Given the description of an element on the screen output the (x, y) to click on. 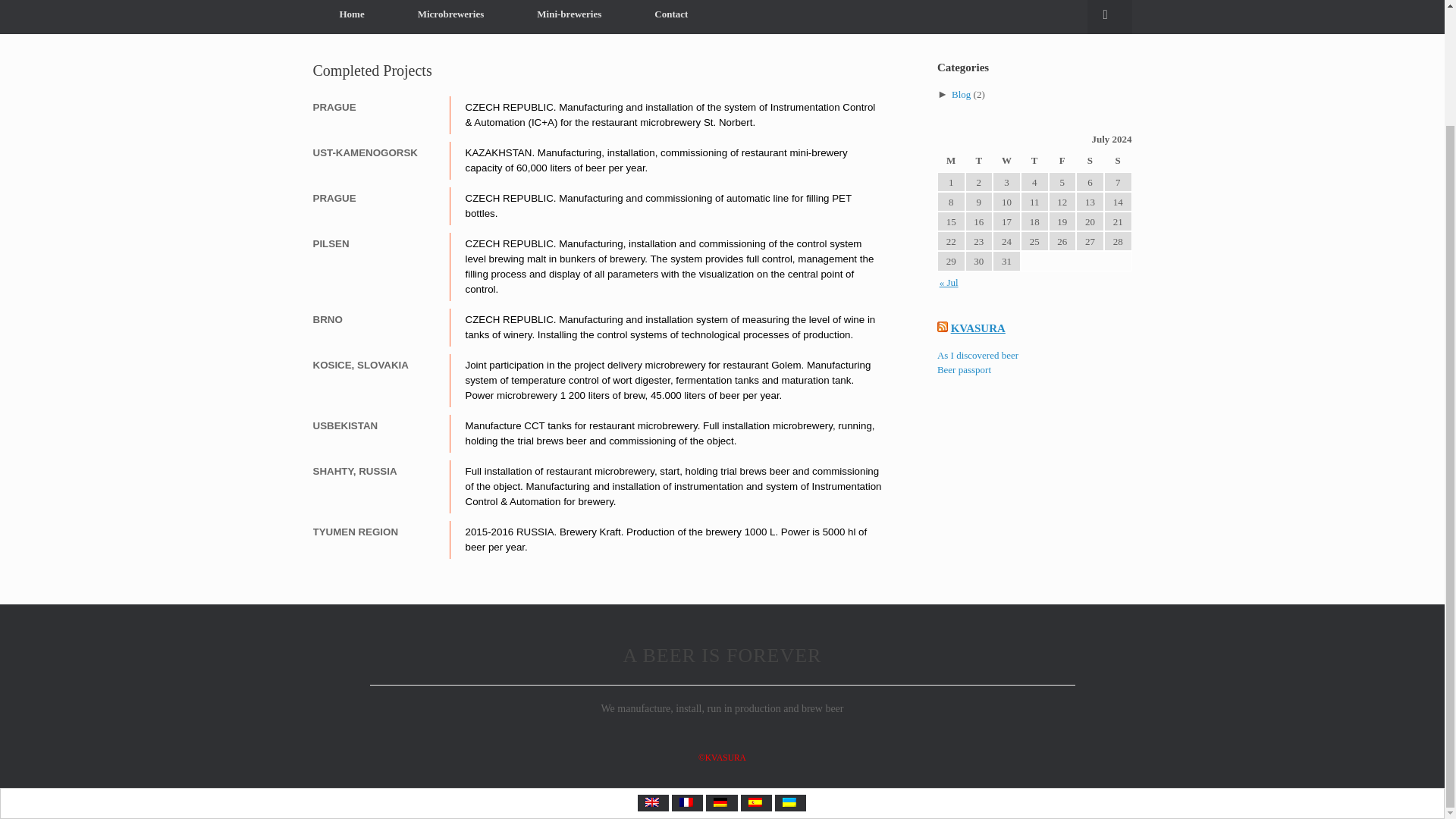
Sunday (1117, 160)
Saturday (1089, 160)
Home (351, 17)
Monday (951, 160)
Wednesday (1006, 160)
copyright (721, 756)
Thursday (1034, 160)
Microbreweries (451, 17)
View all posts filed under Blog (961, 93)
Friday (1061, 160)
Mini-breweries (569, 17)
Tuesday (978, 160)
